Given the description of an element on the screen output the (x, y) to click on. 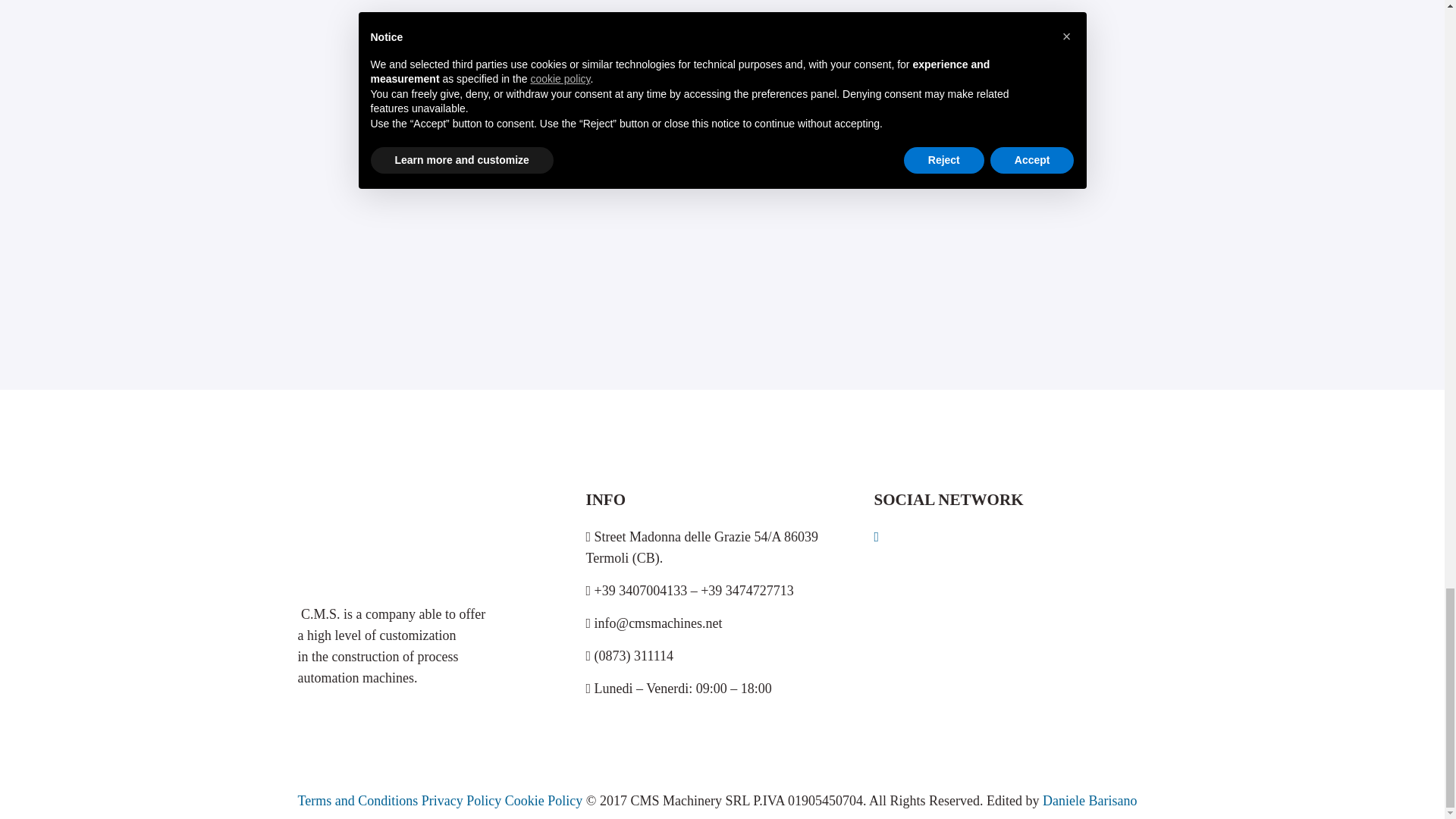
Daniele Barisano (1089, 800)
Cookie Policy (545, 800)
Privacy Policy (463, 800)
Terms and Conditions (358, 800)
